Given the description of an element on the screen output the (x, y) to click on. 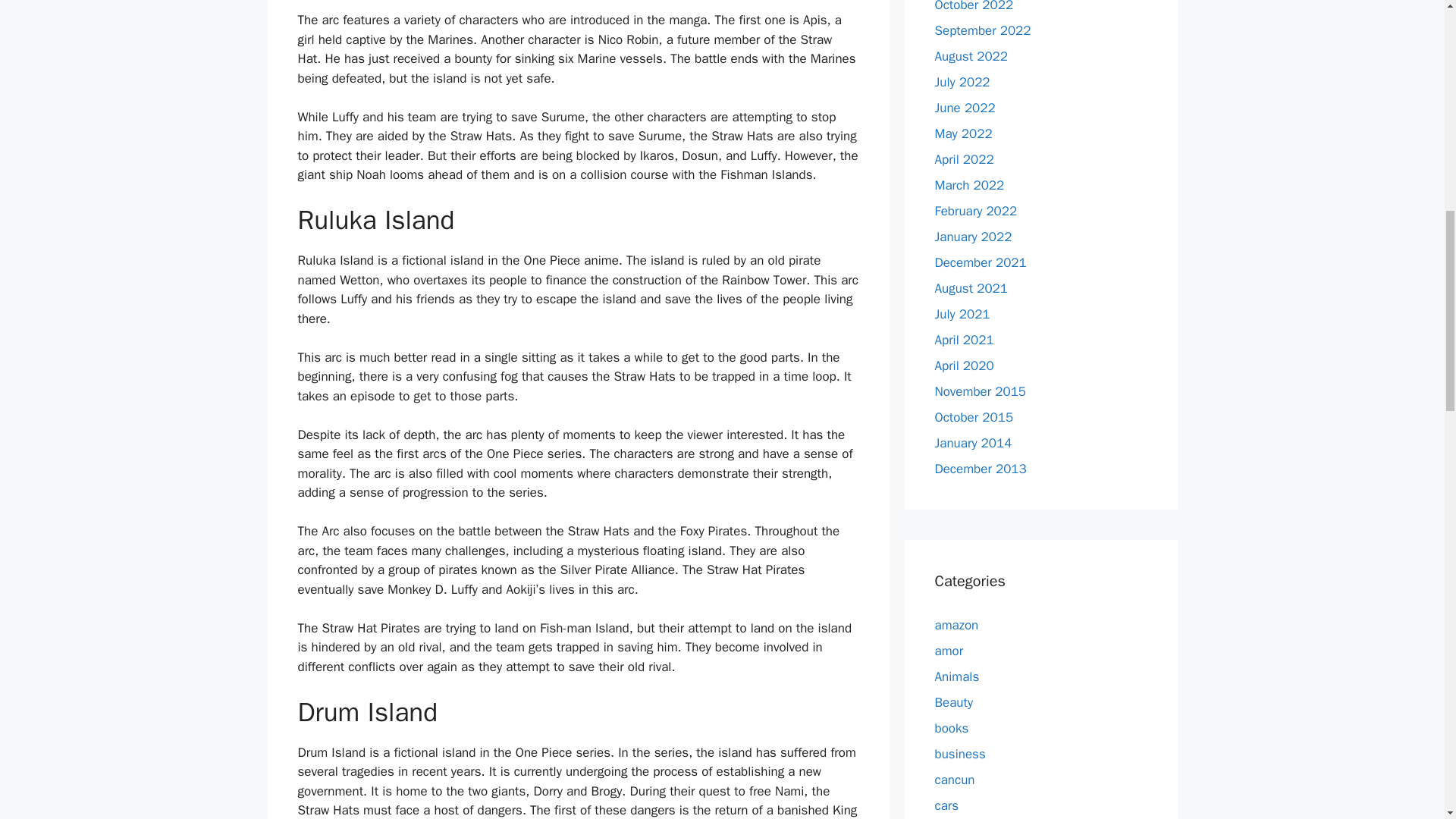
February 2022 (975, 211)
July 2021 (962, 314)
July 2022 (962, 82)
May 2022 (962, 133)
November 2015 (980, 391)
April 2020 (963, 365)
April 2022 (963, 159)
October 2015 (973, 417)
April 2021 (963, 340)
Beauty (953, 702)
June 2022 (964, 107)
August 2021 (970, 288)
January 2014 (972, 442)
December 2021 (980, 262)
January 2022 (972, 236)
